Given the description of an element on the screen output the (x, y) to click on. 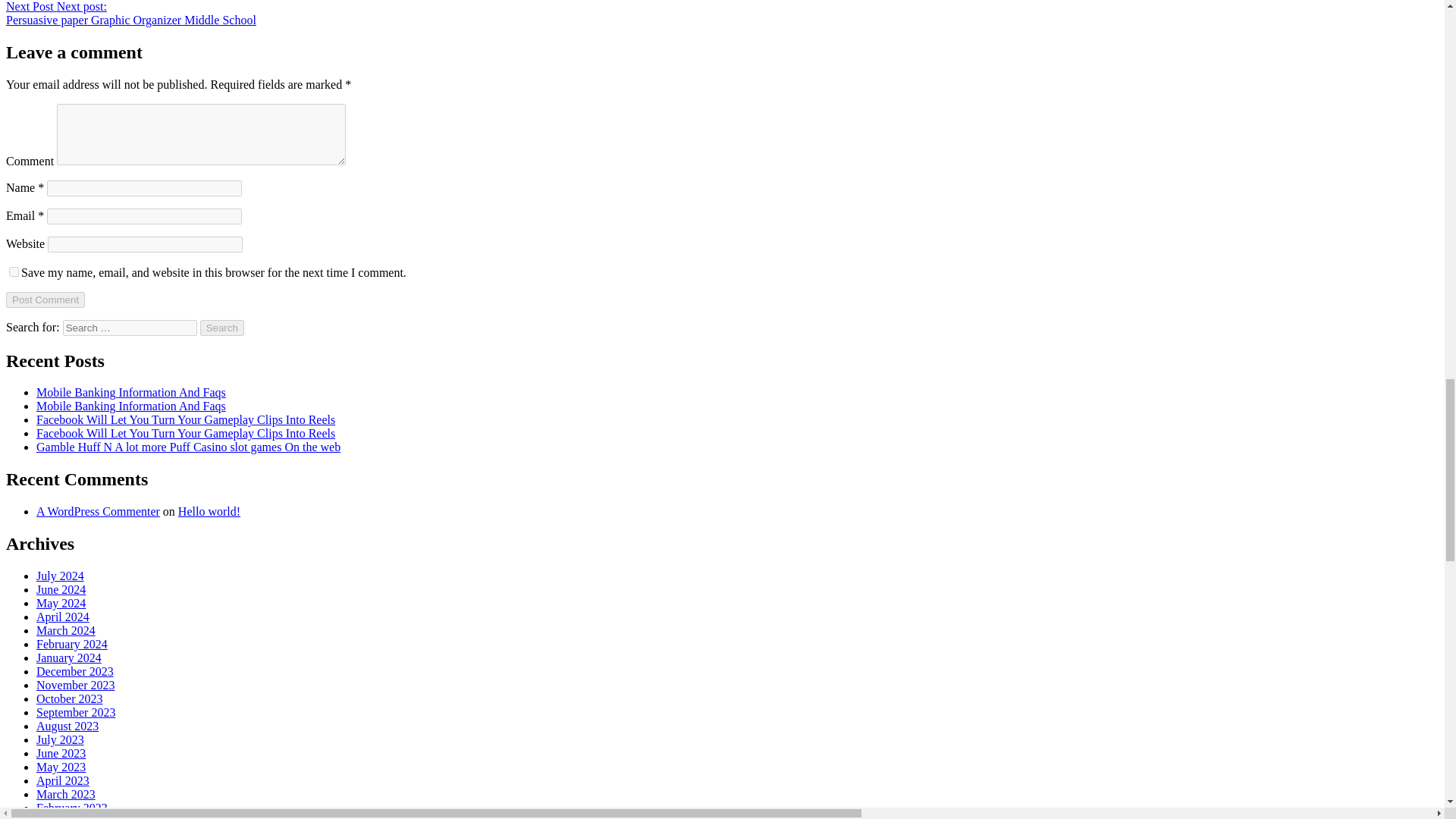
Facebook Will Let You Turn Your Gameplay Clips Into Reels (185, 432)
July 2024 (60, 575)
September 2023 (75, 712)
May 2023 (60, 766)
October 2023 (69, 698)
Post Comment (44, 299)
January 2024 (68, 657)
Search (222, 327)
November 2023 (75, 684)
March 2024 (66, 630)
June 2024 (60, 589)
Facebook Will Let You Turn Your Gameplay Clips Into Reels (185, 419)
Mobile Banking Information And Faqs (130, 391)
July 2023 (60, 739)
